Given the description of an element on the screen output the (x, y) to click on. 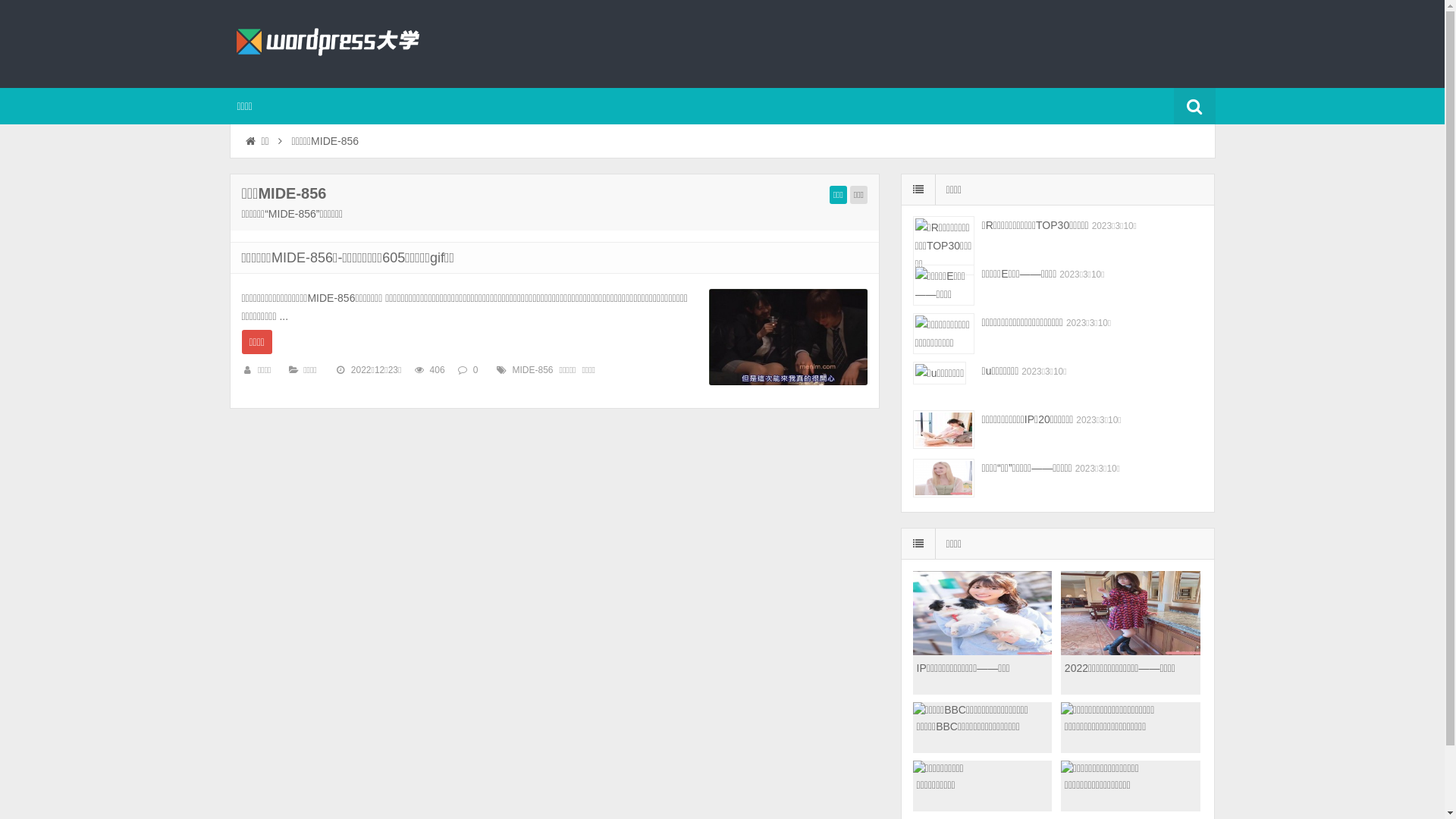
MIDE-856 Element type: text (532, 369)
0 Element type: text (475, 369)
